Given the description of an element on the screen output the (x, y) to click on. 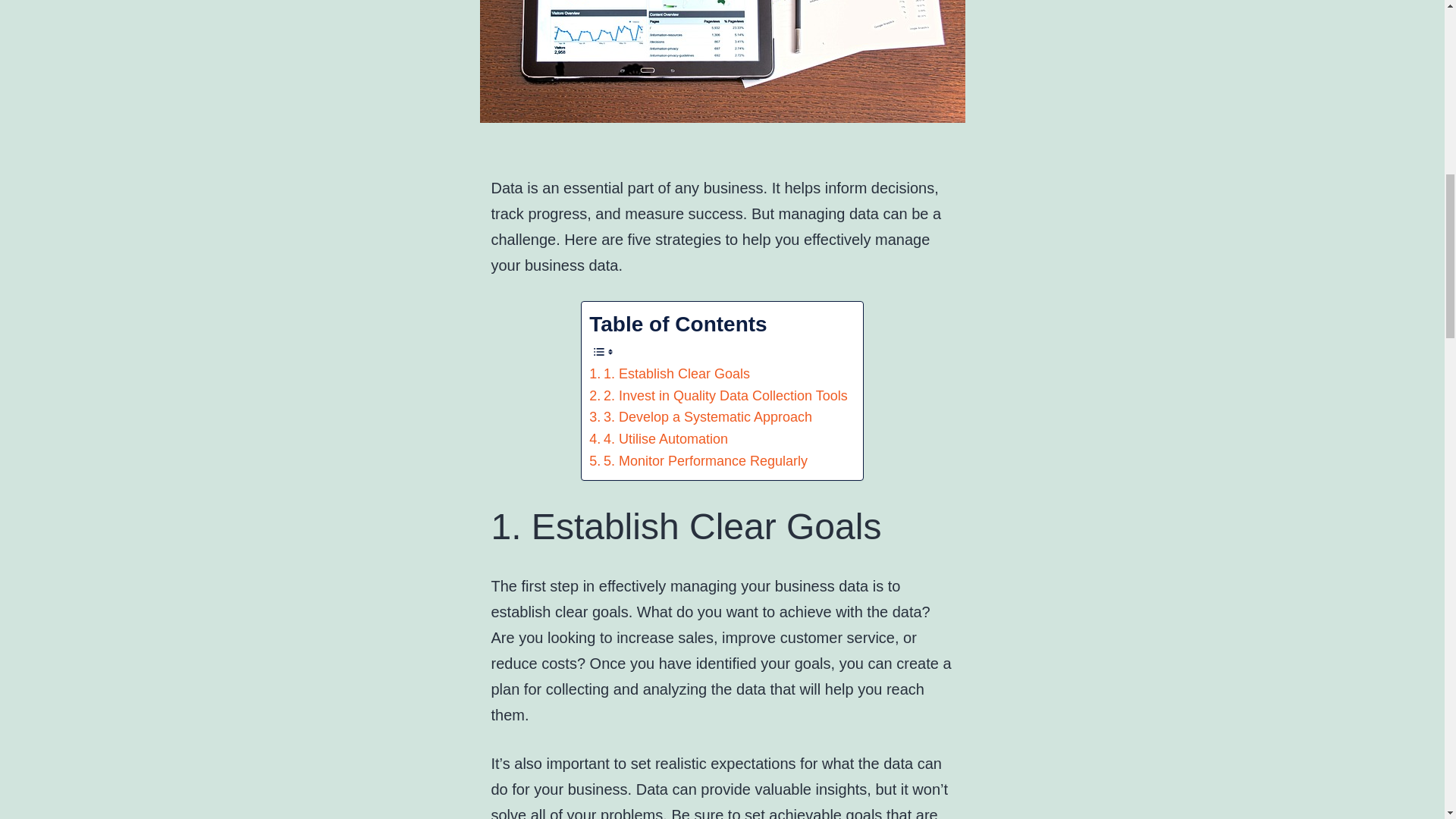
3. Develop a Systematic Approach (700, 417)
2. Invest in Quality Data Collection Tools (718, 395)
1. Establish Clear Goals (669, 373)
3. Develop a Systematic Approach (700, 417)
5. Monitor Performance Regularly (698, 461)
5. Monitor Performance Regularly (698, 461)
4. Utilise Automation (658, 439)
4. Utilise Automation (658, 439)
2. Invest in Quality Data Collection Tools (718, 395)
1. Establish Clear Goals (669, 373)
